Given the description of an element on the screen output the (x, y) to click on. 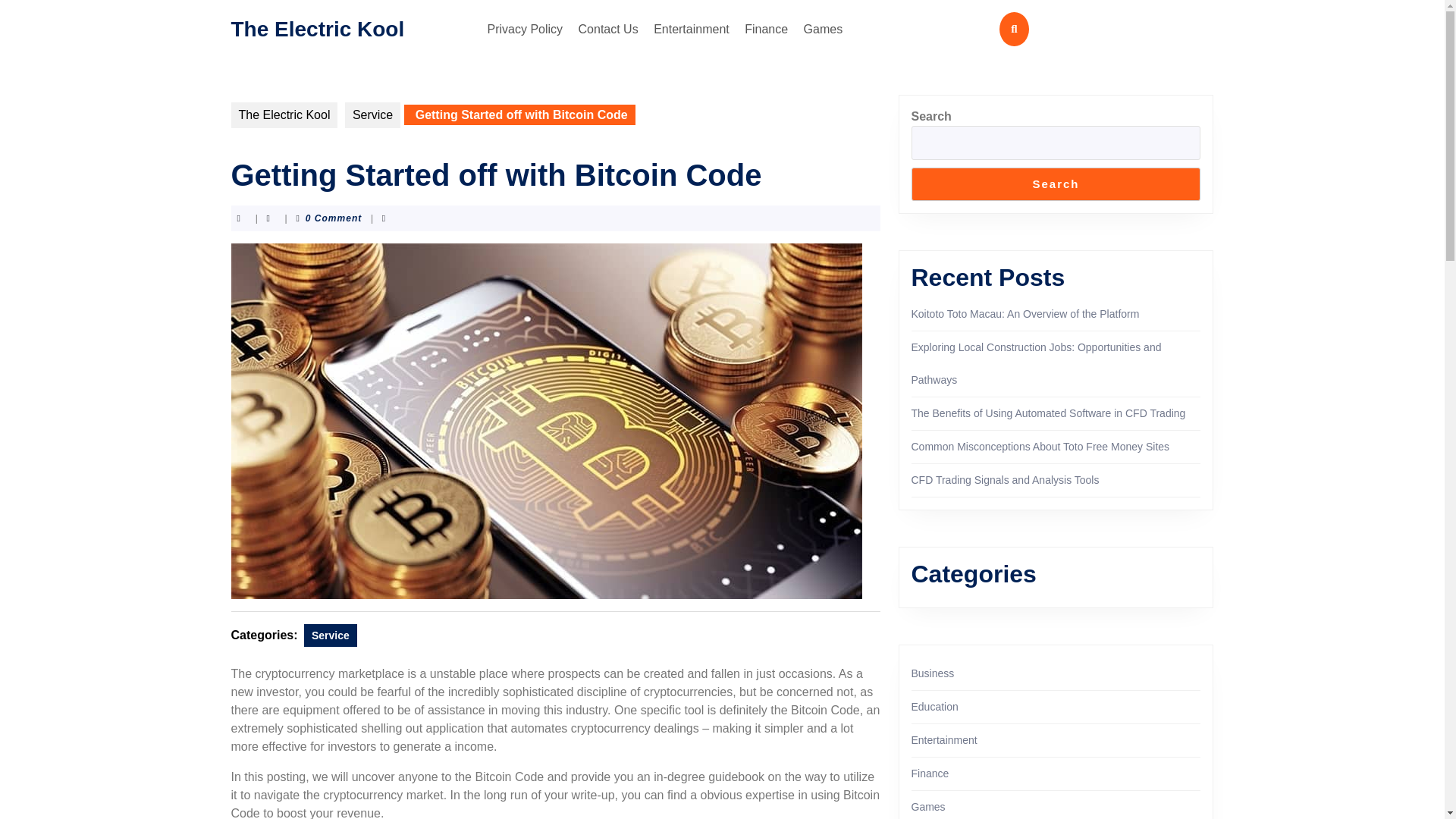
Entertainment (691, 28)
The Electric Kool (317, 28)
Contact Us (608, 28)
Koitoto Toto Macau: An Overview of the Platform (1025, 313)
Search (1056, 183)
Service (330, 635)
Service (372, 114)
The Benefits of Using Automated Software in CFD Trading (1048, 413)
CFD Trading Signals and Analysis Tools (1005, 480)
Common Misconceptions About Toto Free Money Sites (1040, 446)
Finance (765, 28)
The Electric Kool (283, 114)
Privacy Policy (524, 28)
Games (822, 28)
